Given the description of an element on the screen output the (x, y) to click on. 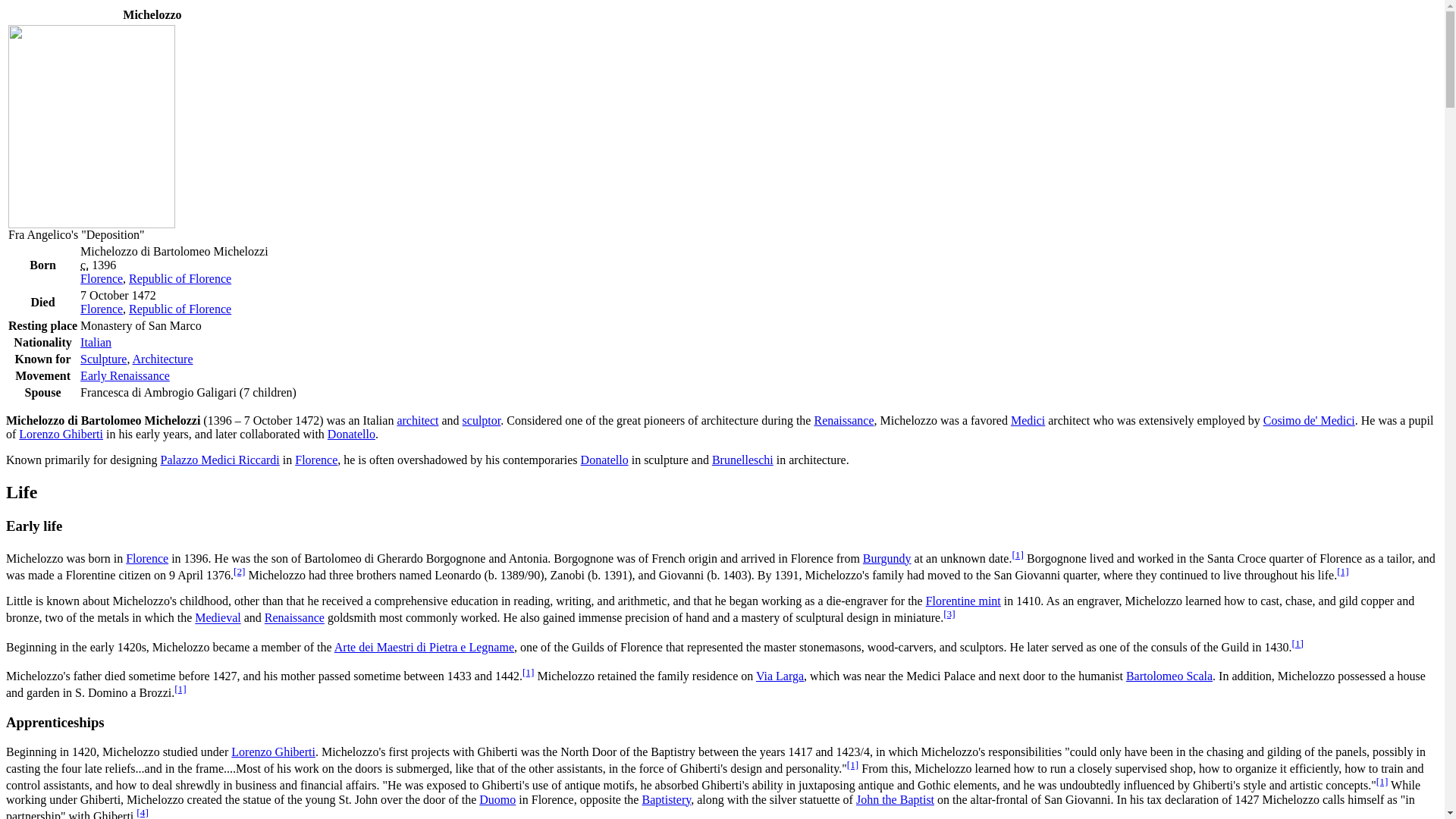
Lorenzo Ghiberti (60, 433)
House of Medici (1027, 420)
Sculpture (481, 420)
Renaissance (843, 420)
Florence (101, 308)
Republic of Florence (180, 308)
Brunelleschi (742, 459)
Renaissance (125, 375)
Donatello (351, 433)
Sculpture (103, 358)
Architecture (162, 358)
Palazzo Medici Riccardi (219, 459)
Florence (101, 308)
Architecture (162, 358)
architect (417, 420)
